Given the description of an element on the screen output the (x, y) to click on. 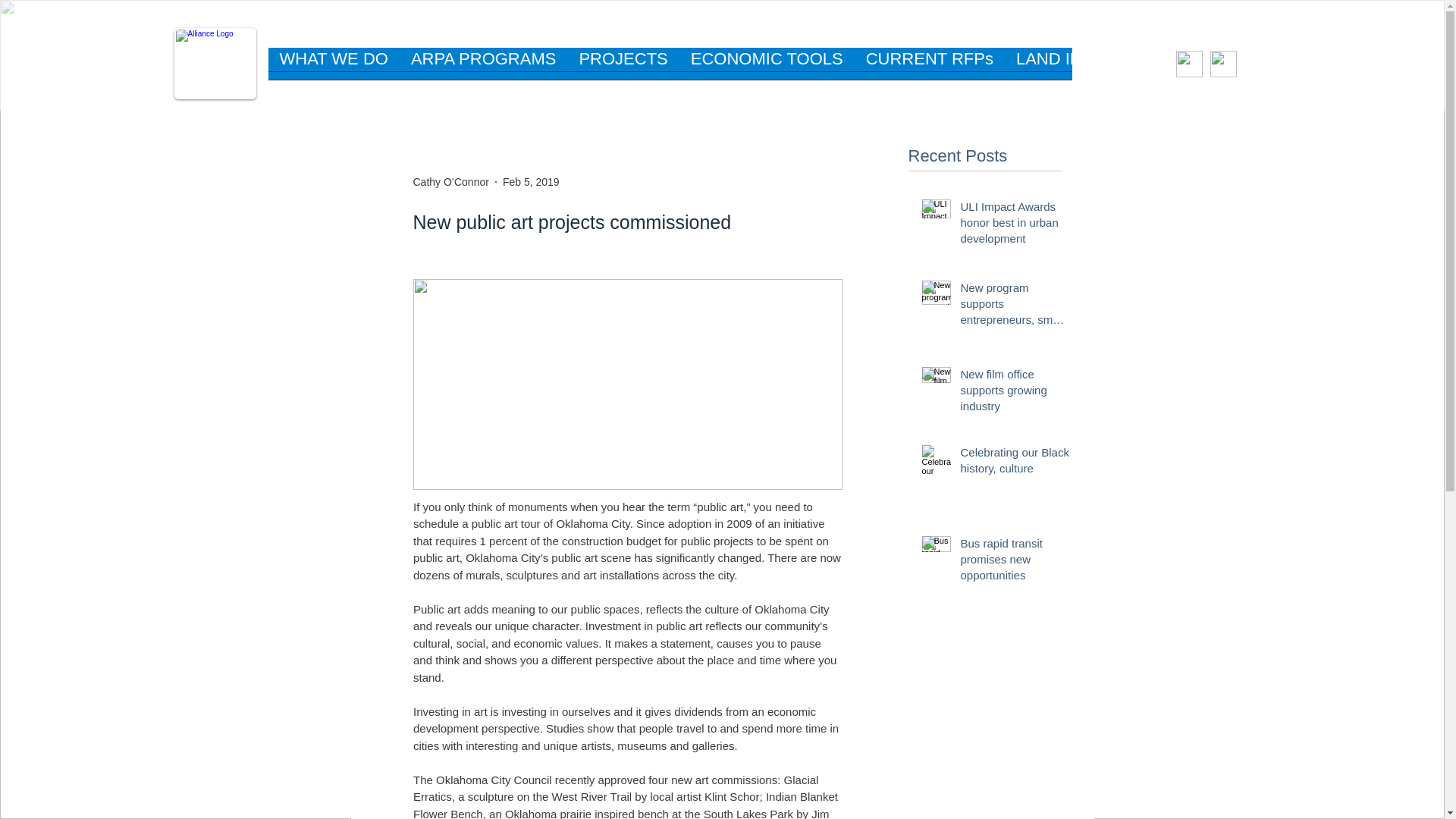
PROJECTS (622, 68)
Bus rapid transit promises new opportunities (1013, 561)
ECONOMIC TOOLS (766, 68)
New program supports entrepreneurs, small businesses (1013, 306)
Feb 5, 2019 (530, 182)
Celebrating our Black history, culture (1013, 463)
ULI Impact Awards honor best in urban development (1013, 225)
WHAT WE DO (332, 68)
LAND INVENTORY (1088, 68)
New film office supports growing industry (1013, 393)
ARPA PROGRAMS (482, 68)
CURRENT RFPs (929, 68)
